Given the description of an element on the screen output the (x, y) to click on. 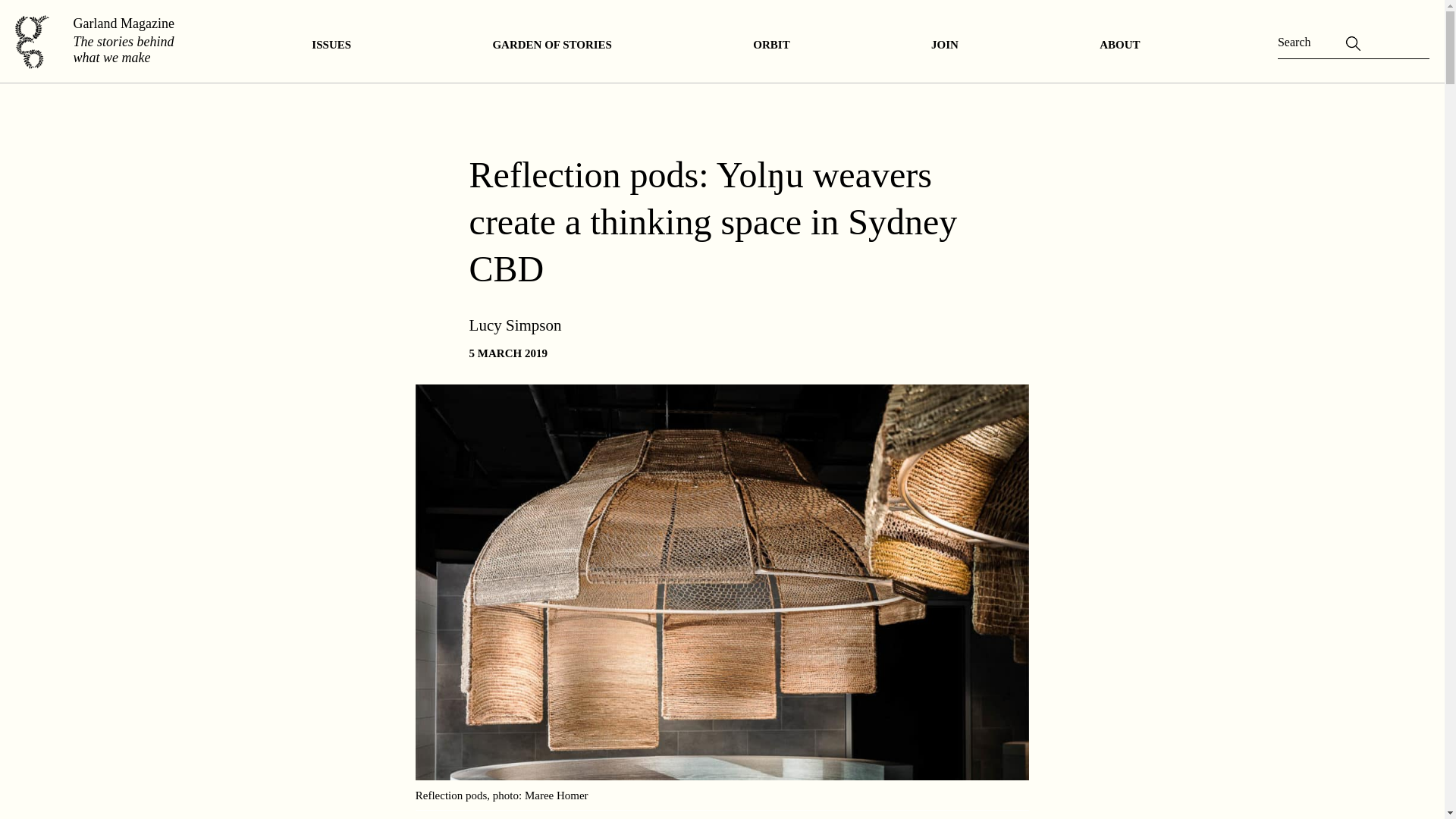
GARDEN OF STORIES (551, 44)
ISSUES (331, 44)
ABOUT (1119, 44)
Search (28, 15)
ORBIT (771, 44)
